Given the description of an element on the screen output the (x, y) to click on. 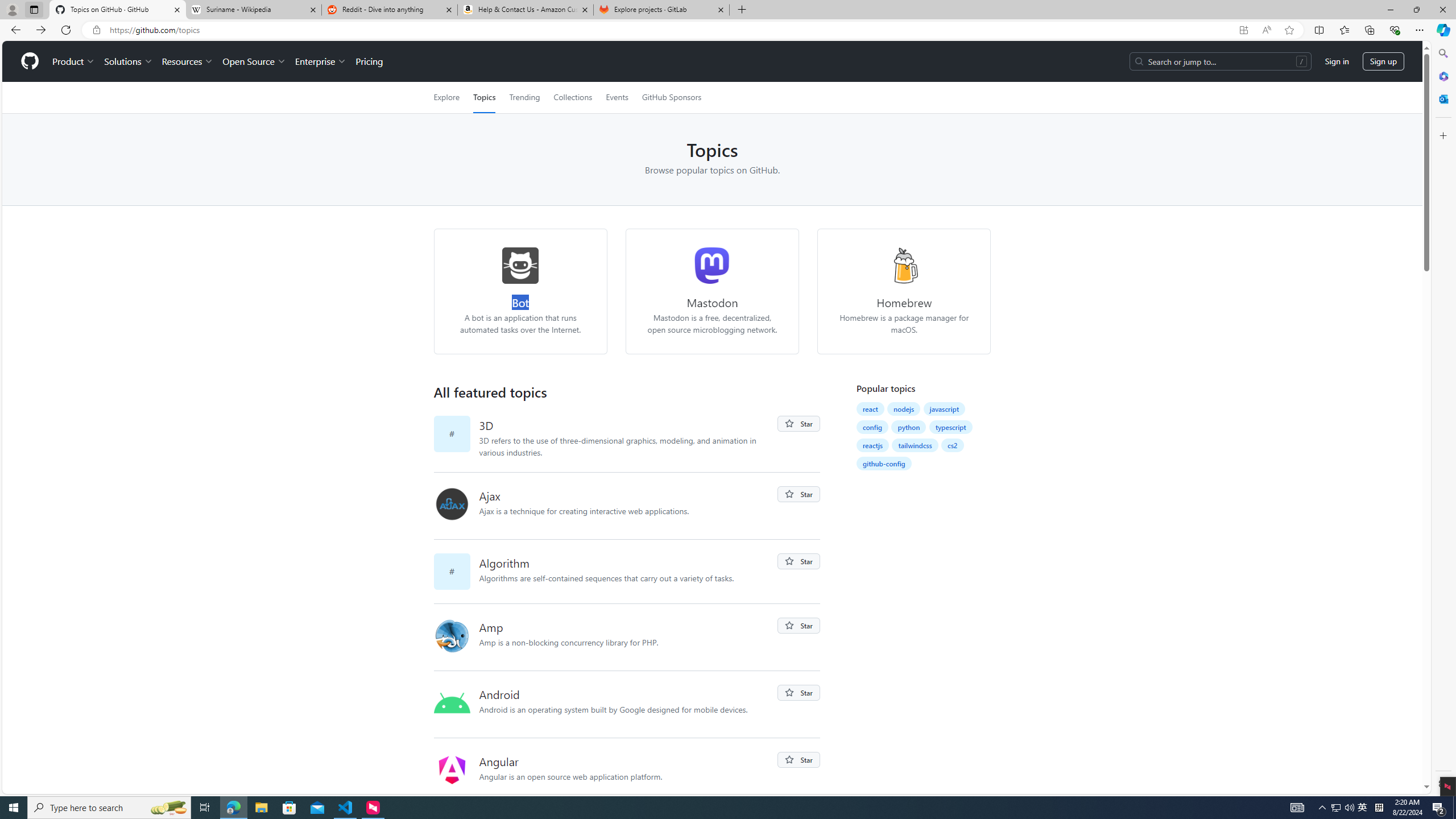
Reddit - Dive into anything (390, 9)
amphp (451, 635)
typescript (950, 427)
Explore (446, 97)
config (872, 427)
Product (74, 60)
github-config (884, 463)
Topics (484, 97)
HomebrewHomebrew is a package manager for macOS. (904, 291)
bot (520, 265)
python (908, 427)
